Given the description of an element on the screen output the (x, y) to click on. 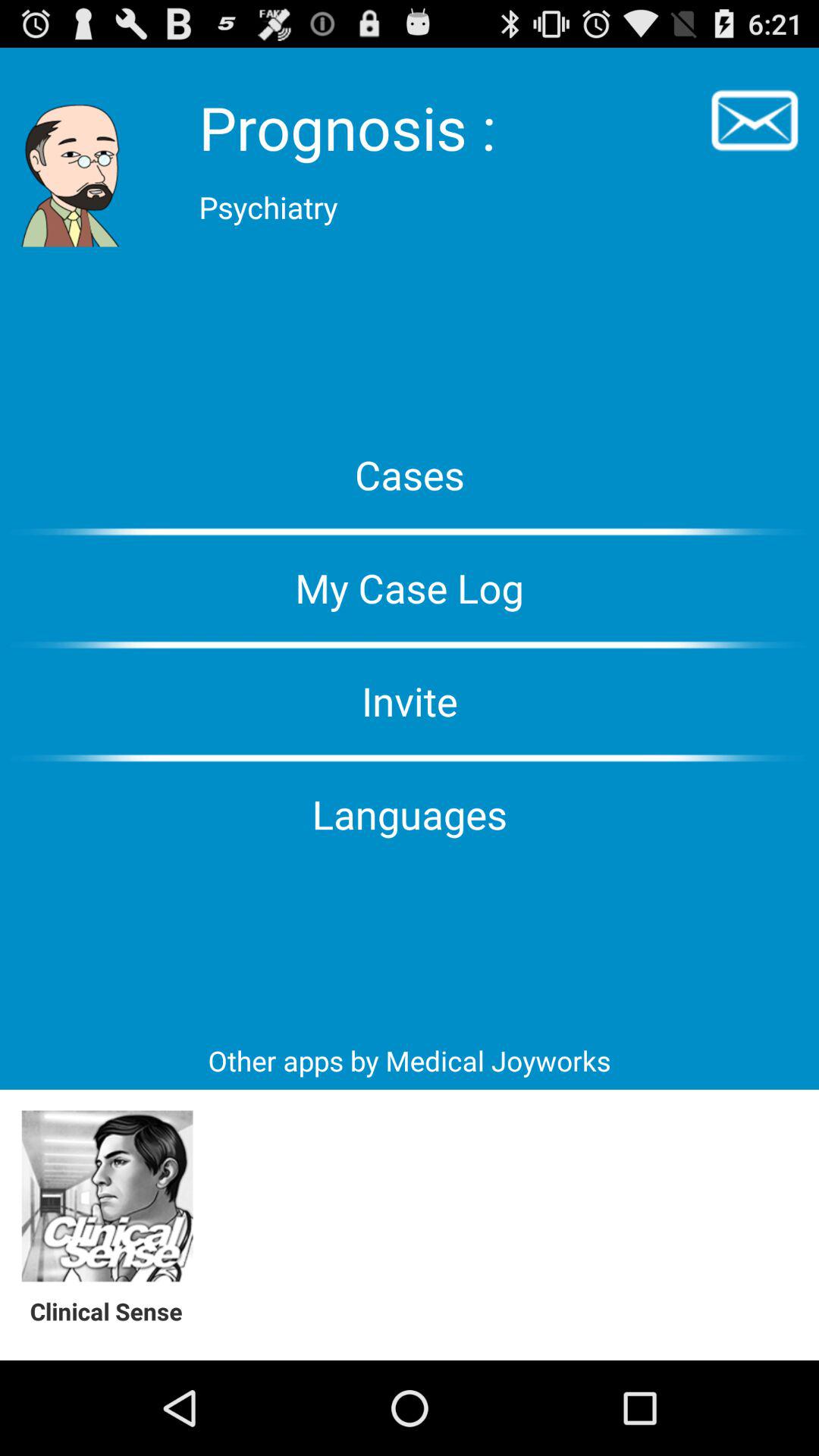
turn on item above other apps by item (409, 813)
